Given the description of an element on the screen output the (x, y) to click on. 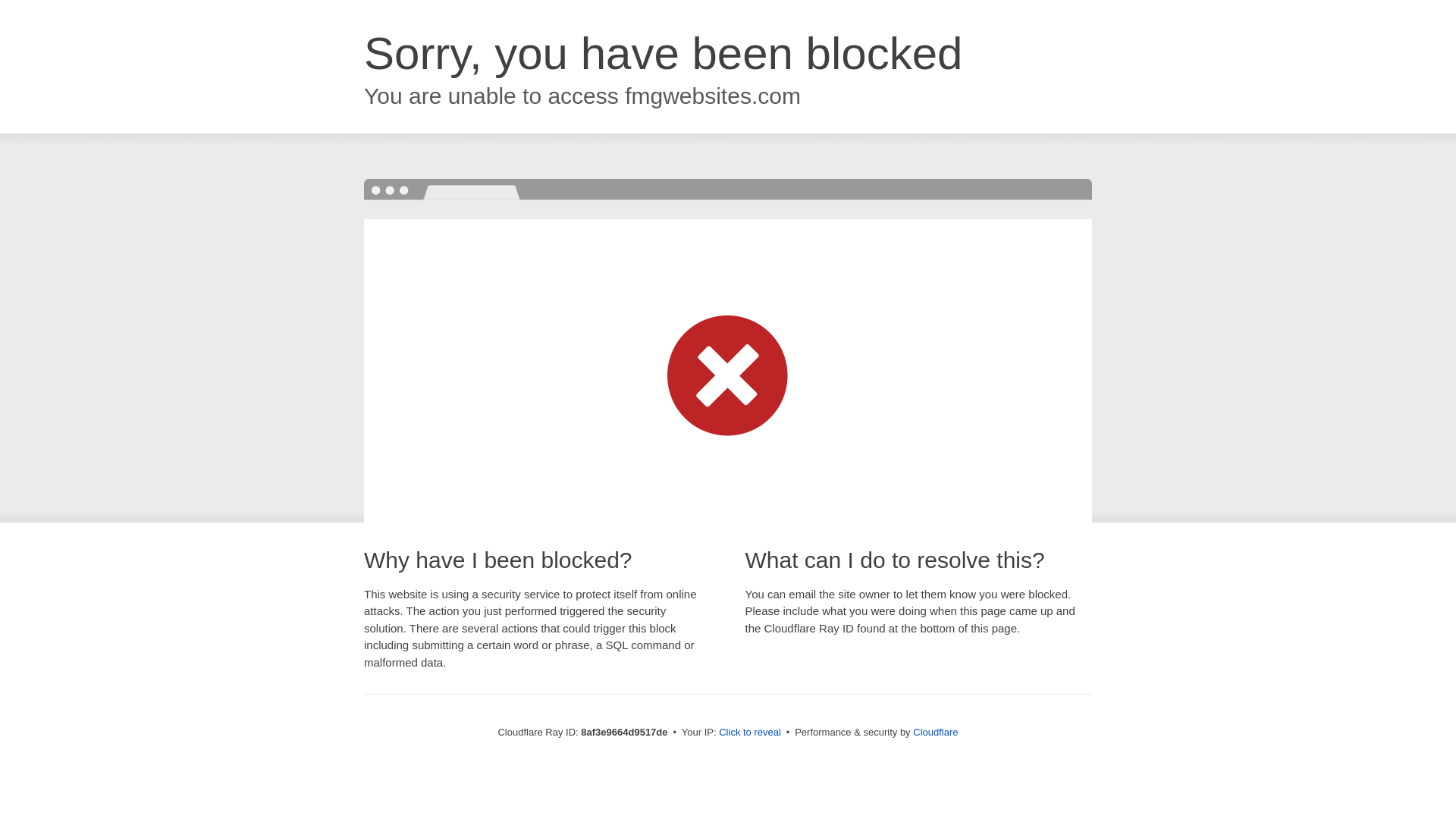
Click to reveal (749, 732)
Cloudflare (935, 731)
